Given the description of an element on the screen output the (x, y) to click on. 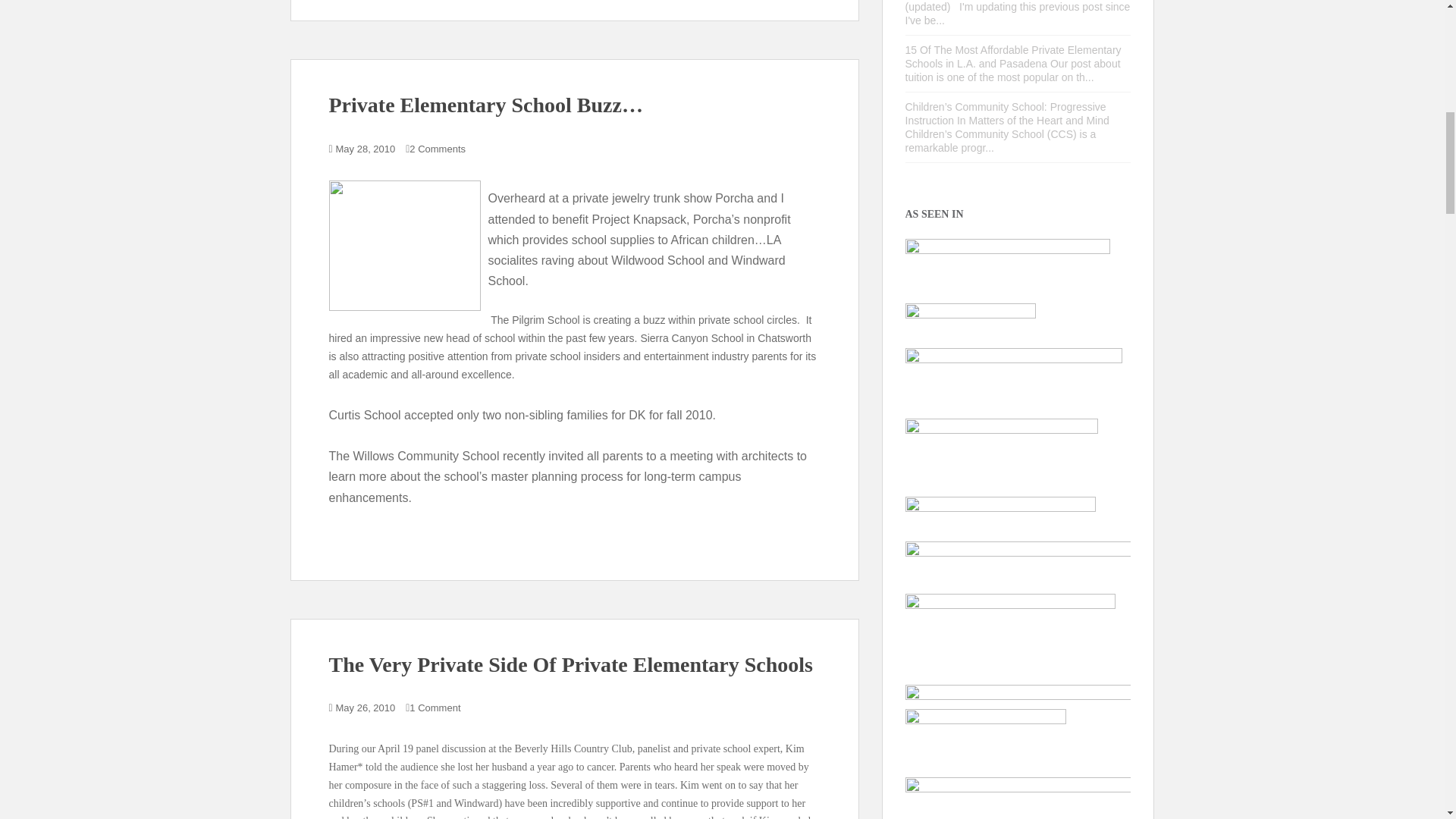
2 Comments (437, 148)
The Very Private Side Of Private Elementary Schools (570, 664)
1 Comment (434, 707)
May 26, 2010 (366, 707)
May 28, 2010 (366, 148)
